Given the description of an element on the screen output the (x, y) to click on. 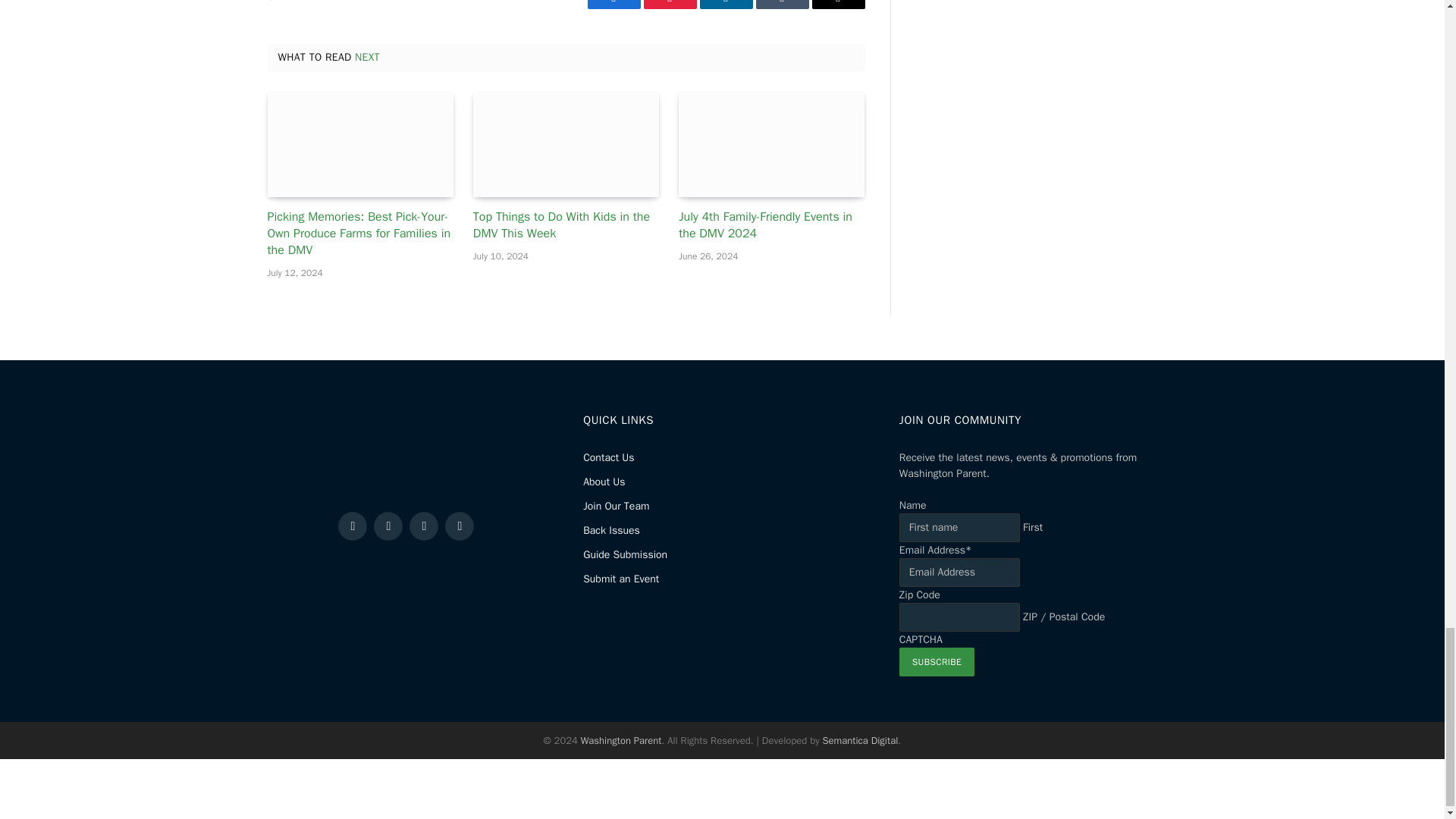
Subscribe (936, 661)
